Given the description of an element on the screen output the (x, y) to click on. 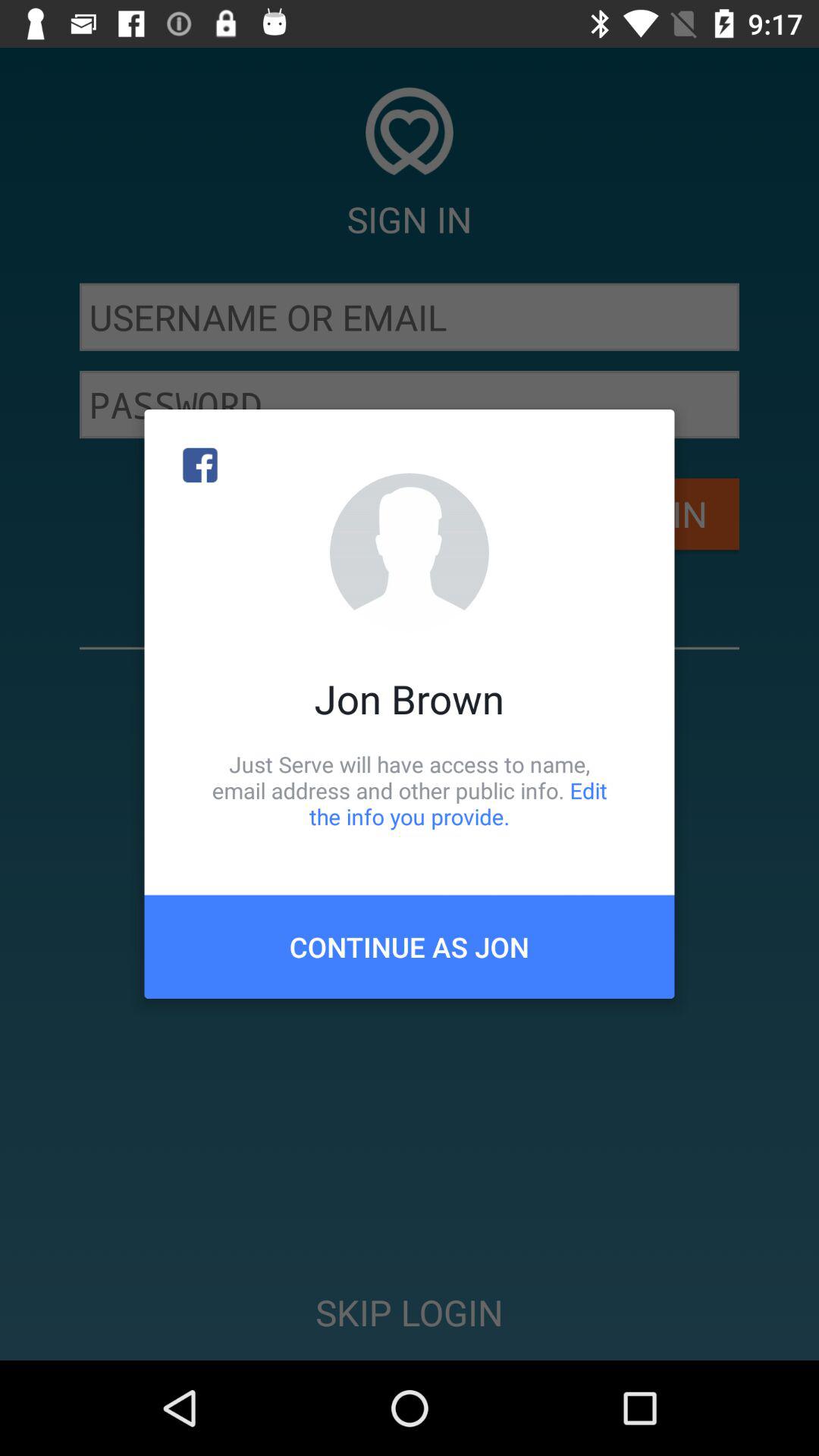
select icon below the just serve will (409, 946)
